Given the description of an element on the screen output the (x, y) to click on. 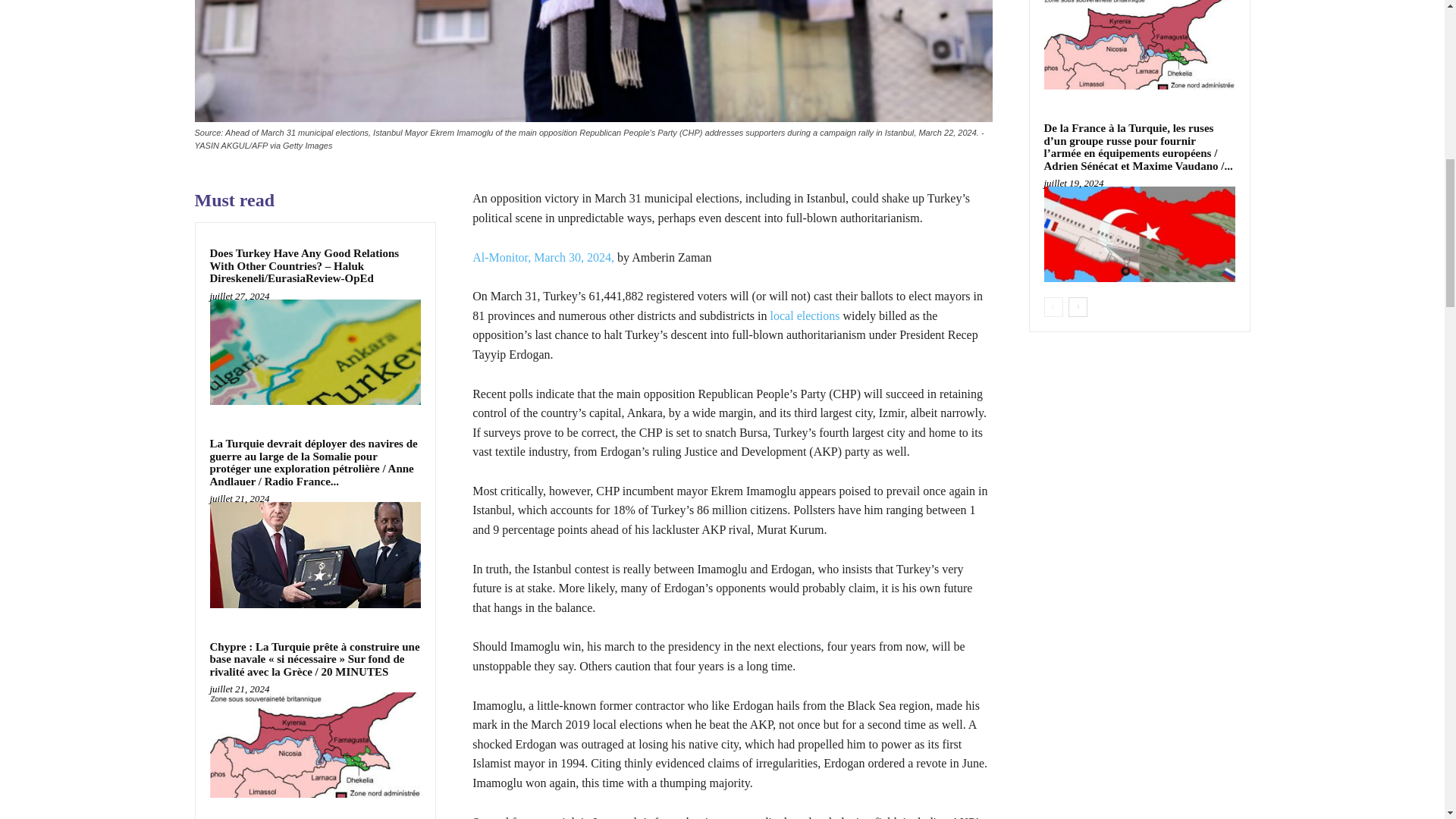
Ekran-Resmi-2024-03-30-14.09.41 (592, 61)
